Given the description of an element on the screen output the (x, y) to click on. 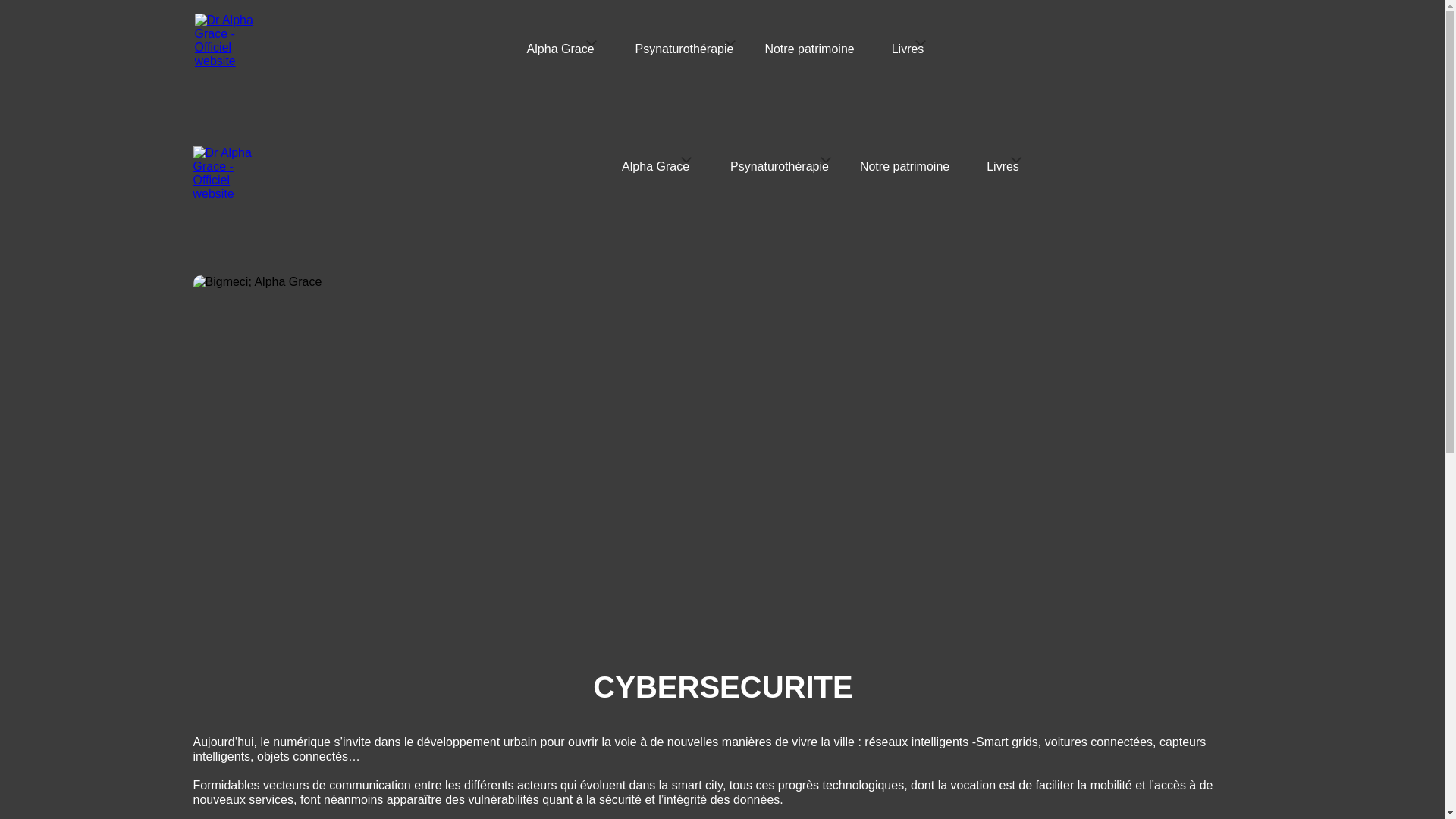
Livres Element type: text (904, 42)
Notre patrimoine Element type: text (904, 169)
Alpha Grace Element type: text (557, 42)
Livres Element type: text (999, 159)
Notre patrimoine Element type: text (808, 52)
Alpha Grace Element type: text (652, 159)
Bigmeci; Alpha Grace Element type: hover (722, 459)
